Given the description of an element on the screen output the (x, y) to click on. 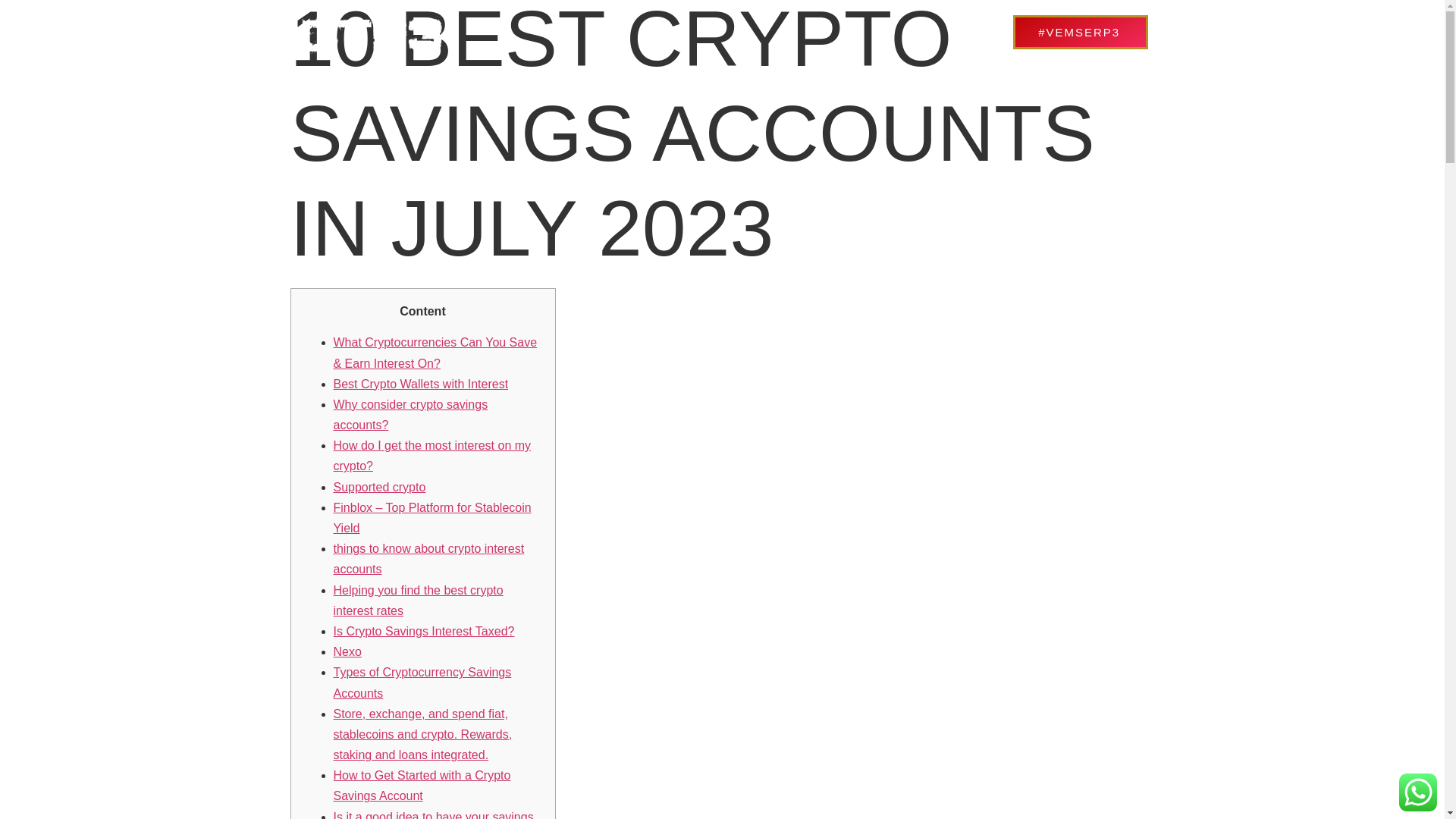
How to Get Started with a Crypto Savings Account (422, 785)
Why consider crypto savings accounts? (410, 414)
Types of Cryptocurrency Savings Accounts (422, 682)
Nexo (347, 651)
Best Crypto Wallets with Interest (420, 383)
Is Crypto Savings Interest Taxed? (424, 631)
How do I get the most interest on my crypto? (432, 455)
Helping you find the best crypto interest rates (418, 600)
Is it a good idea to have your savings in cryptocurrency? (433, 814)
Supported crypto (379, 486)
things to know about crypto interest accounts (428, 558)
